Given the description of an element on the screen output the (x, y) to click on. 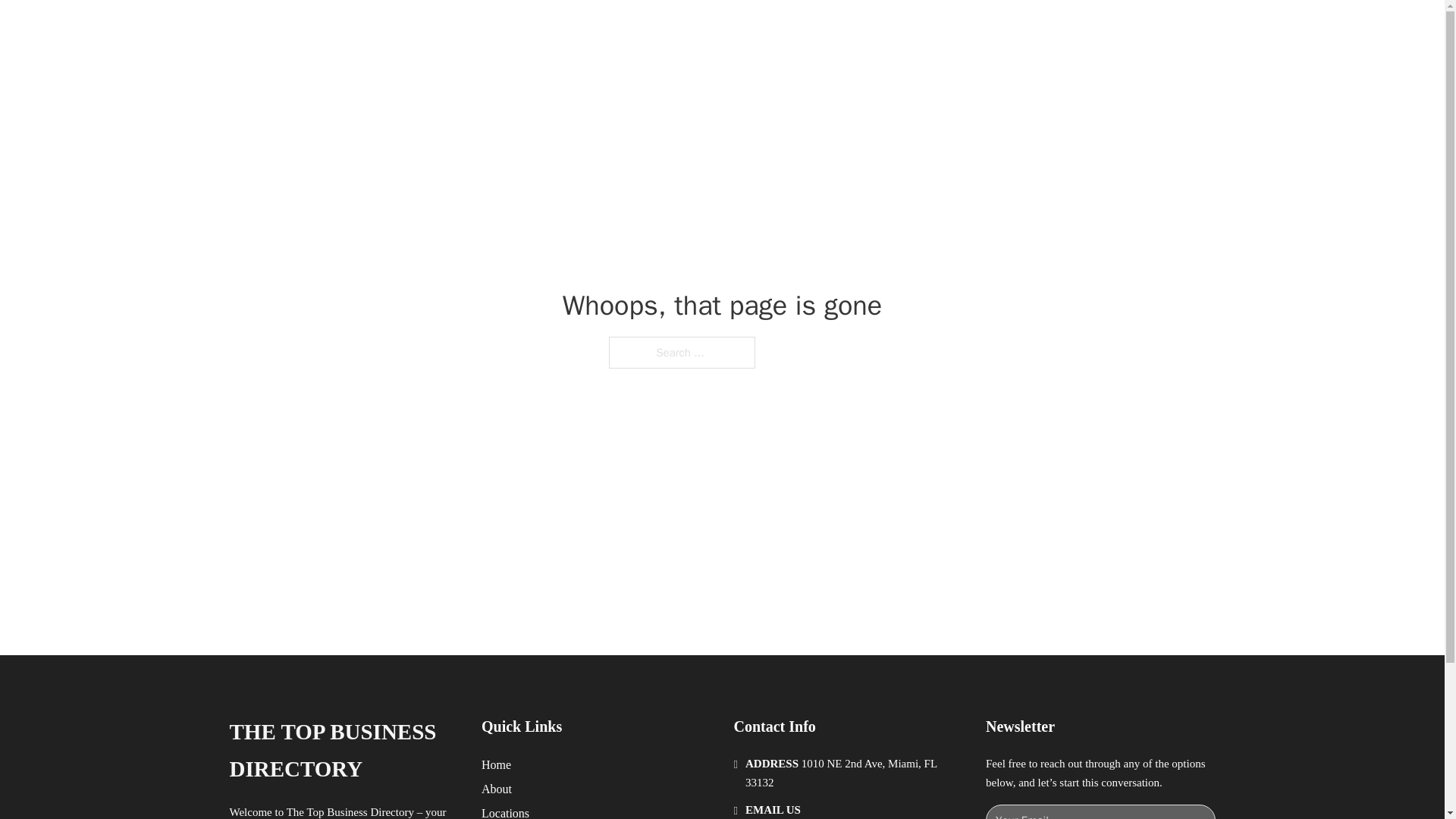
About (496, 788)
HOME (919, 29)
THE TOP BUSINESS DIRECTORY (463, 28)
Locations (505, 811)
LOCATIONS (990, 29)
THE TOP BUSINESS DIRECTORY (343, 750)
Home (496, 764)
